Given the description of an element on the screen output the (x, y) to click on. 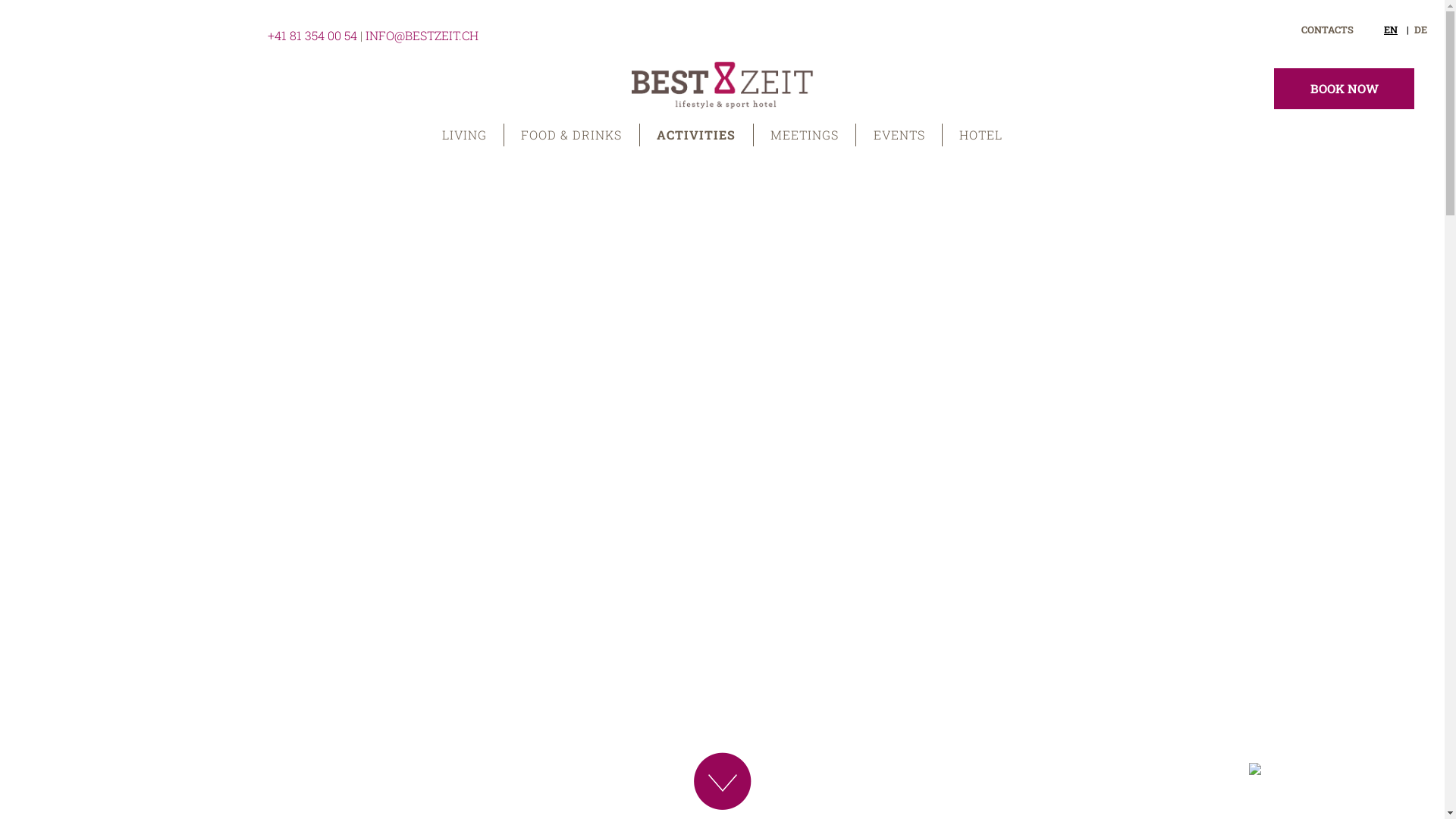
PACKAGES Element type: text (1248, 29)
EVENTS Element type: text (899, 134)
BOOK NOW Element type: text (1344, 88)
DE Element type: text (1395, 29)
INFO@BESTZEIT.CH Element type: text (421, 35)
LIVING Element type: text (464, 134)
DE Element type: text (1420, 29)
KONTAKT Element type: text (1329, 29)
EN Element type: text (1395, 29)
MEETINGS Element type: text (804, 134)
ACTIVITIES Element type: text (696, 134)
+41 81 354 00 54 Element type: text (311, 35)
FOOD & DRINKS Element type: text (572, 134)
CONTACTS Element type: text (1327, 29)
HOTEL Element type: text (980, 134)
EN Element type: text (1420, 29)
